Given the description of an element on the screen output the (x, y) to click on. 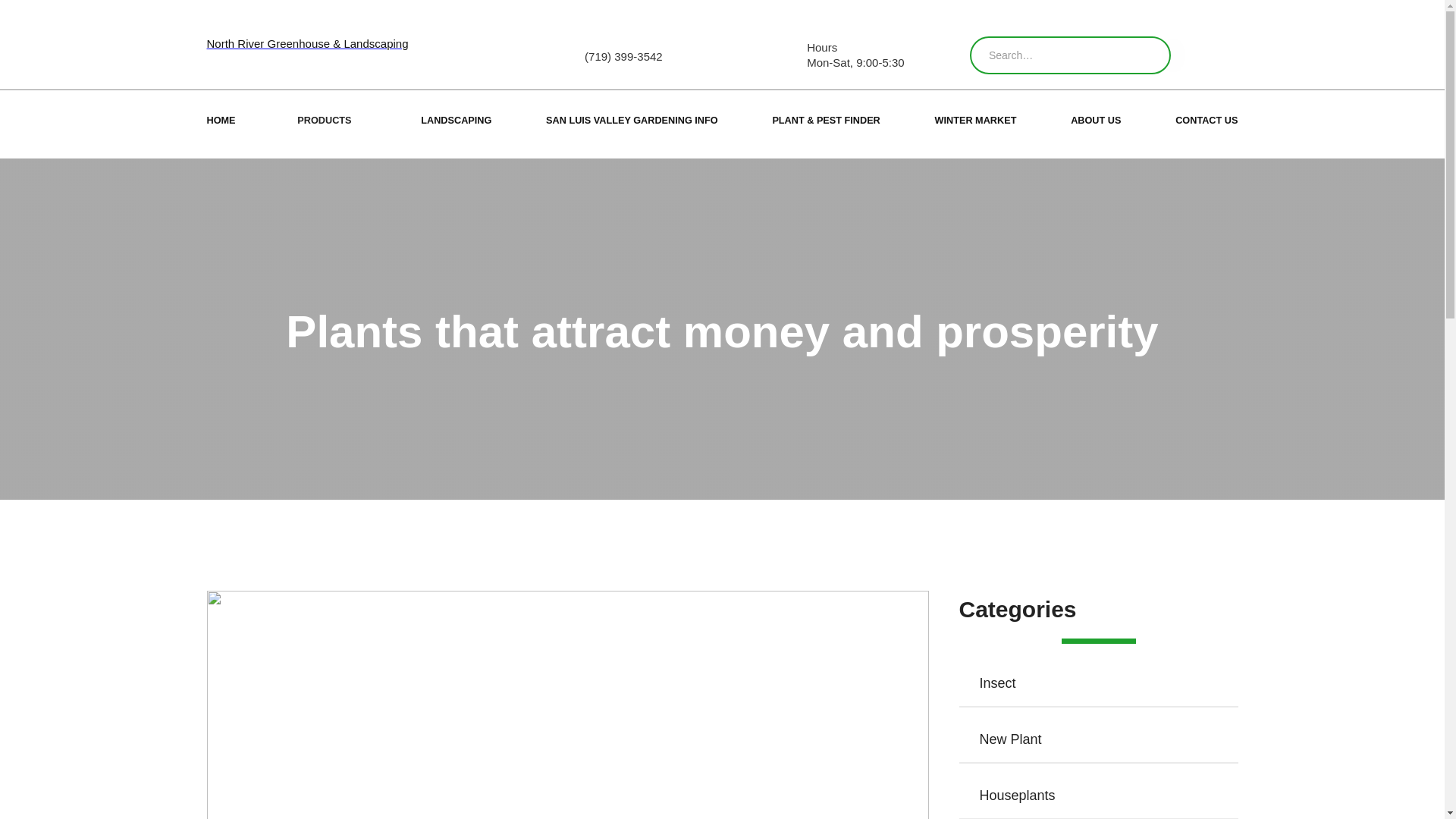
New Plant (1097, 738)
Insect (1097, 682)
Houseplants (1097, 794)
SAN LUIS VALLEY GARDENING INFO (631, 124)
WINTER MARKET (975, 124)
LANDSCAPING (456, 124)
CONTACT US (1205, 124)
